Given the description of an element on the screen output the (x, y) to click on. 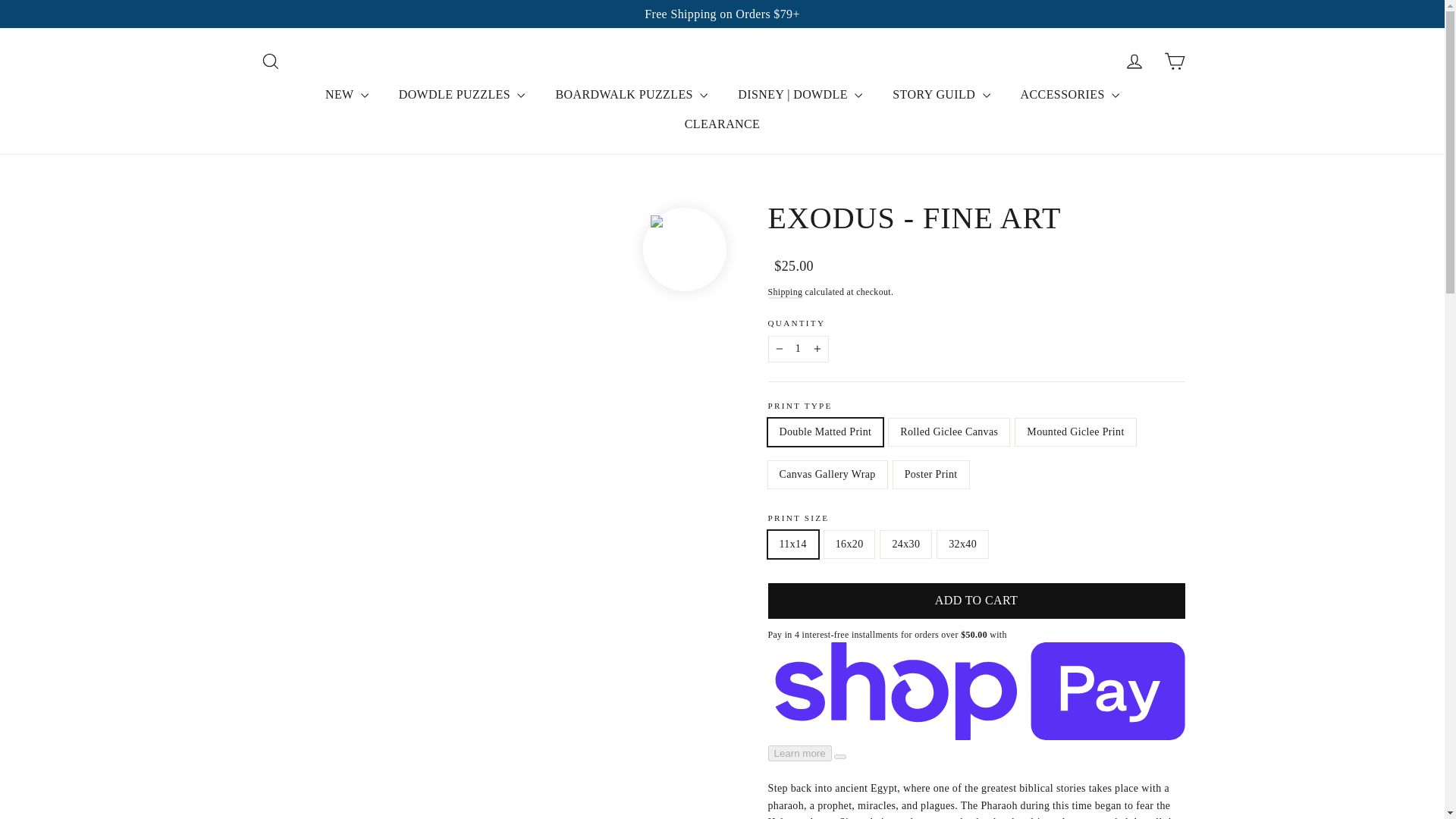
ACCOUNT (1134, 61)
ICON-SEARCH (270, 61)
ICON-CART (1174, 61)
1 (797, 348)
